Given the description of an element on the screen output the (x, y) to click on. 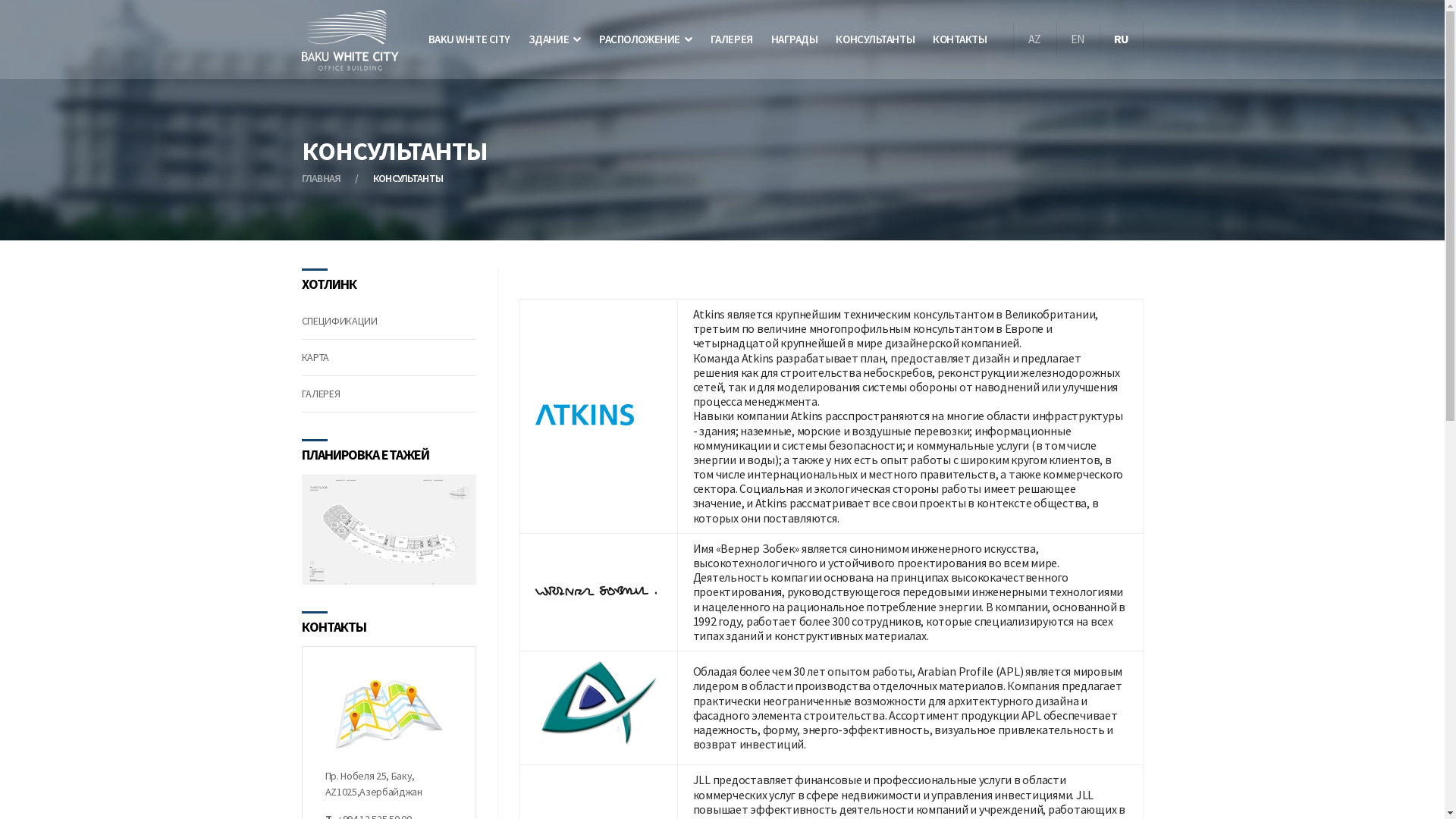
EN Element type: text (1078, 38)
AZ Element type: text (1034, 38)
RU Element type: text (1120, 38)
BAKU WHITE CITY Element type: text (469, 39)
